Given the description of an element on the screen output the (x, y) to click on. 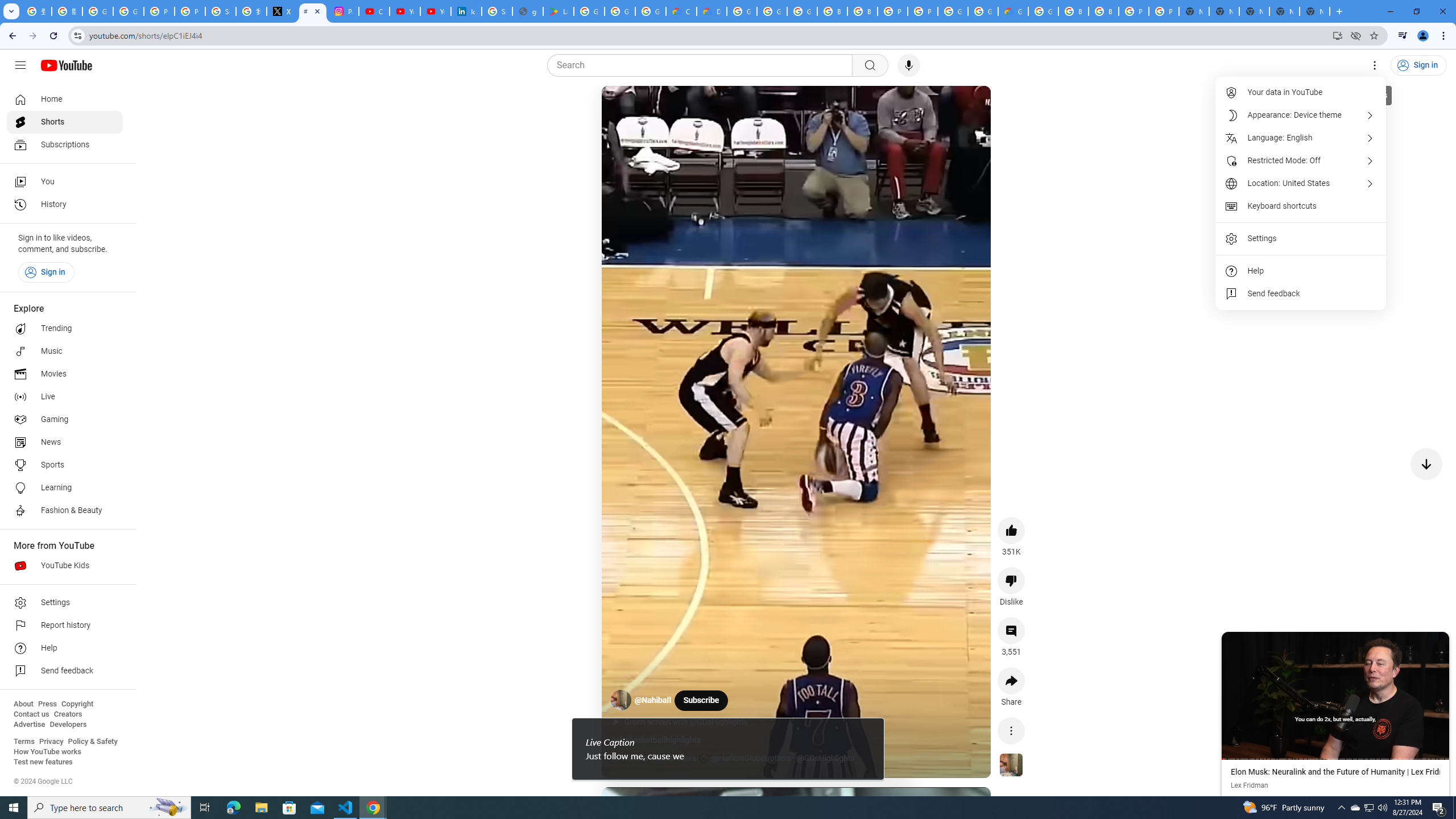
Fashion & Beauty (64, 510)
Next video (1426, 463)
Send feedback (1300, 293)
Google Cloud Platform (1042, 11)
Customer Care | Google Cloud (681, 11)
music icon (615, 758)
Mute (660, 108)
